Given the description of an element on the screen output the (x, y) to click on. 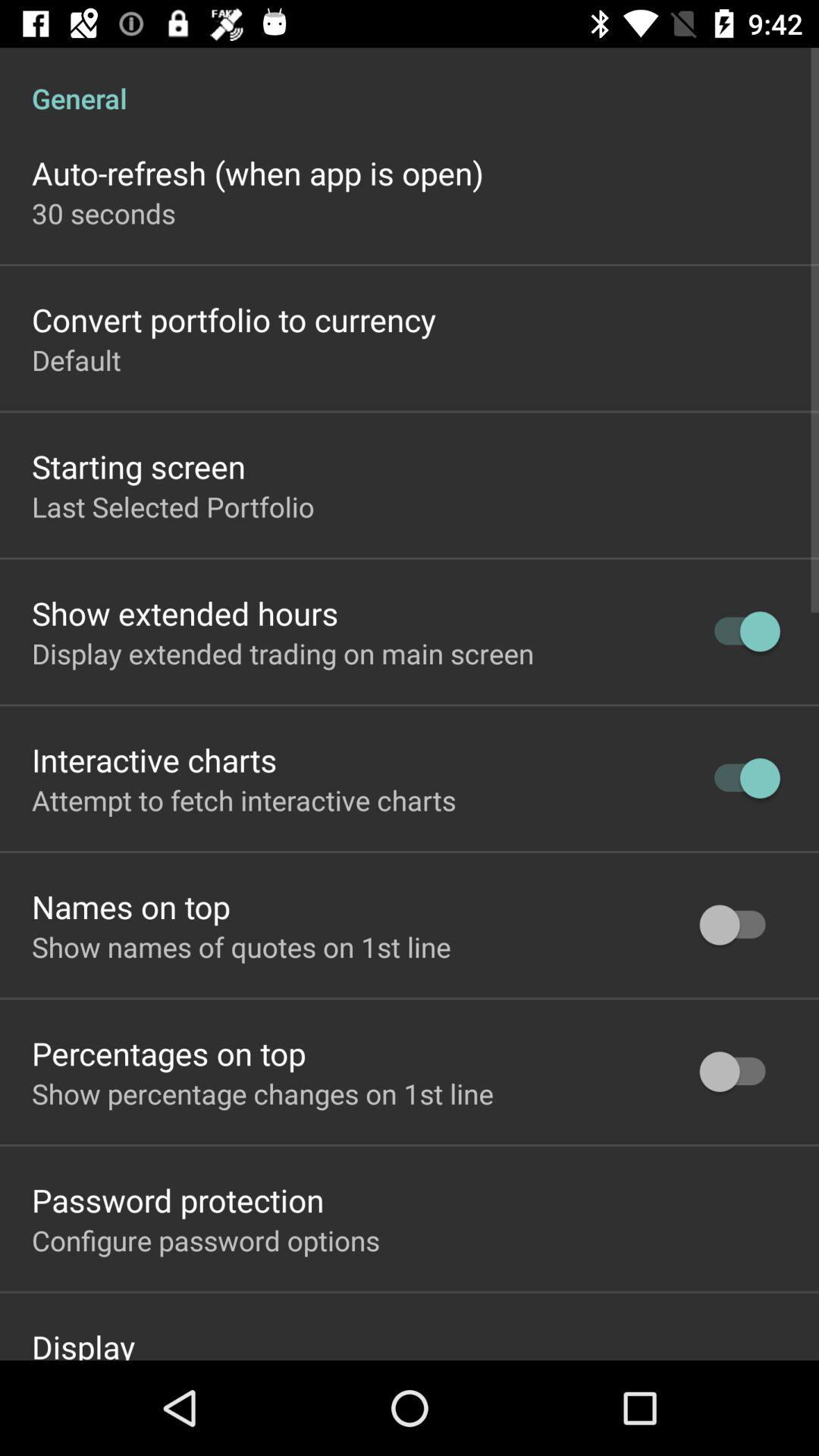
scroll until the last selected portfolio (172, 506)
